Given the description of an element on the screen output the (x, y) to click on. 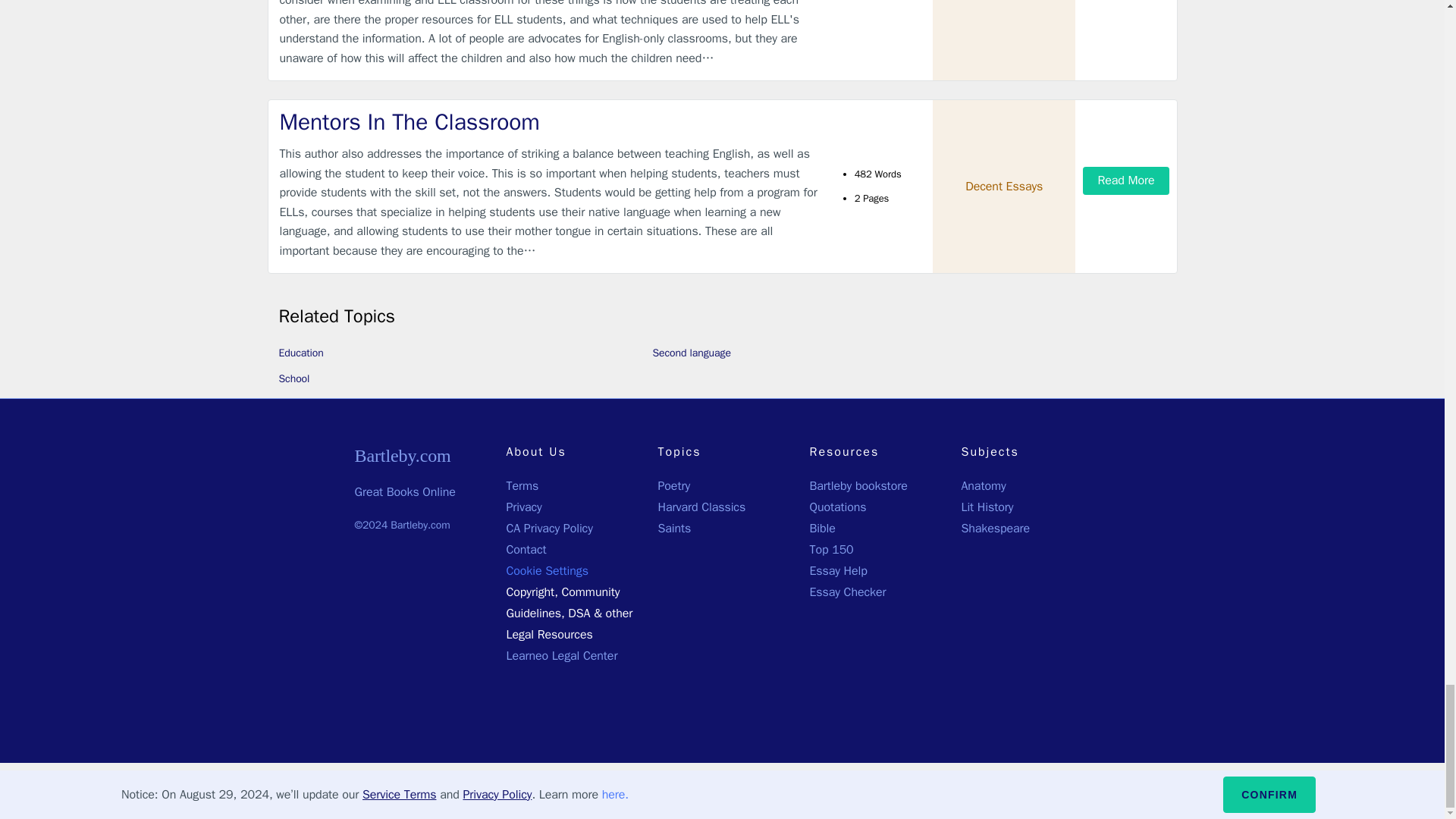
School (294, 378)
Education (301, 352)
Second language (691, 352)
